Given the description of an element on the screen output the (x, y) to click on. 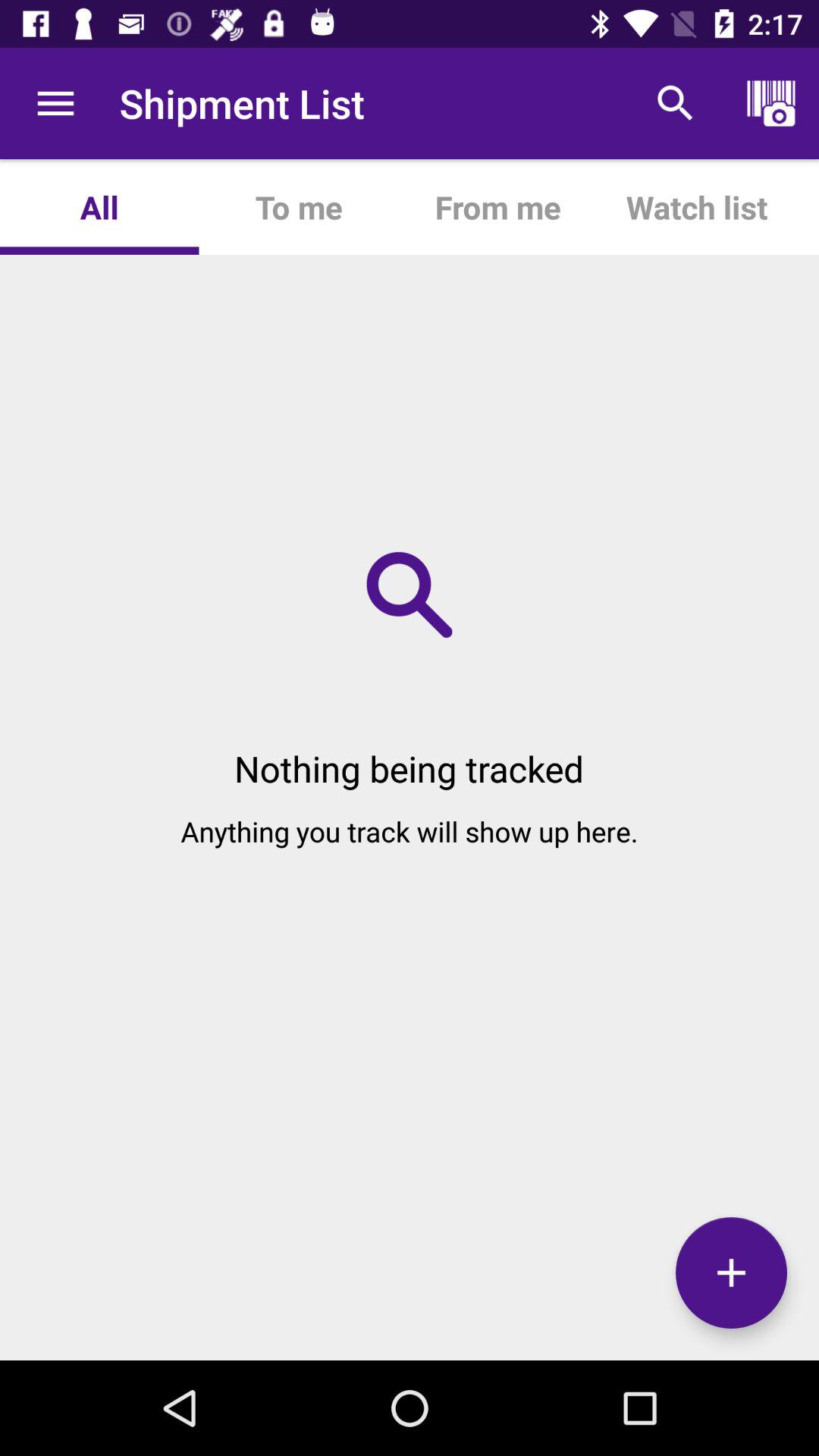
flip until the watch list app (696, 206)
